Given the description of an element on the screen output the (x, y) to click on. 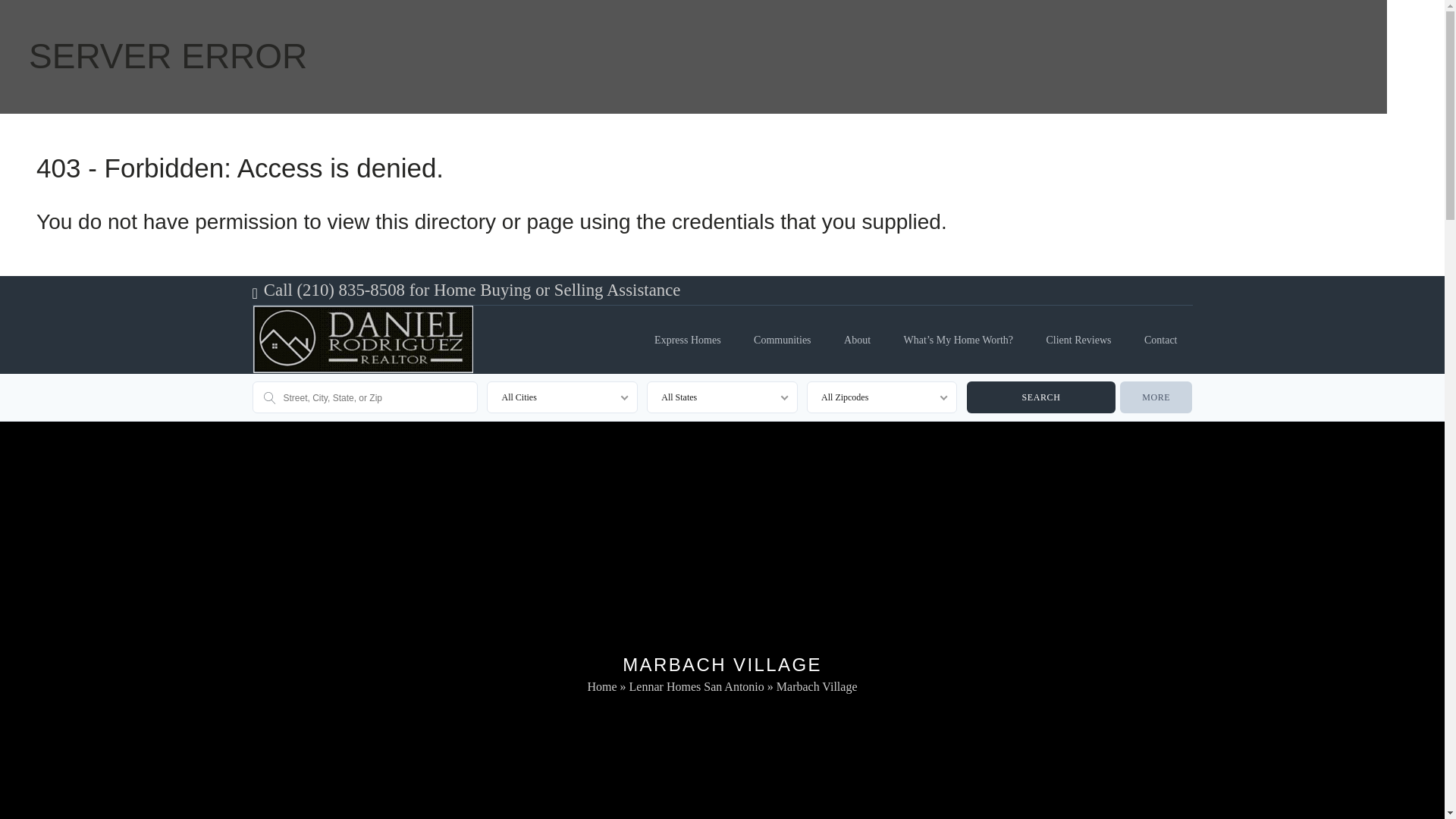
Contact (1160, 331)
Search (1040, 397)
Client Reviews (1078, 331)
About (856, 331)
Communities (781, 331)
Express Homes (687, 331)
